Given the description of an element on the screen output the (x, y) to click on. 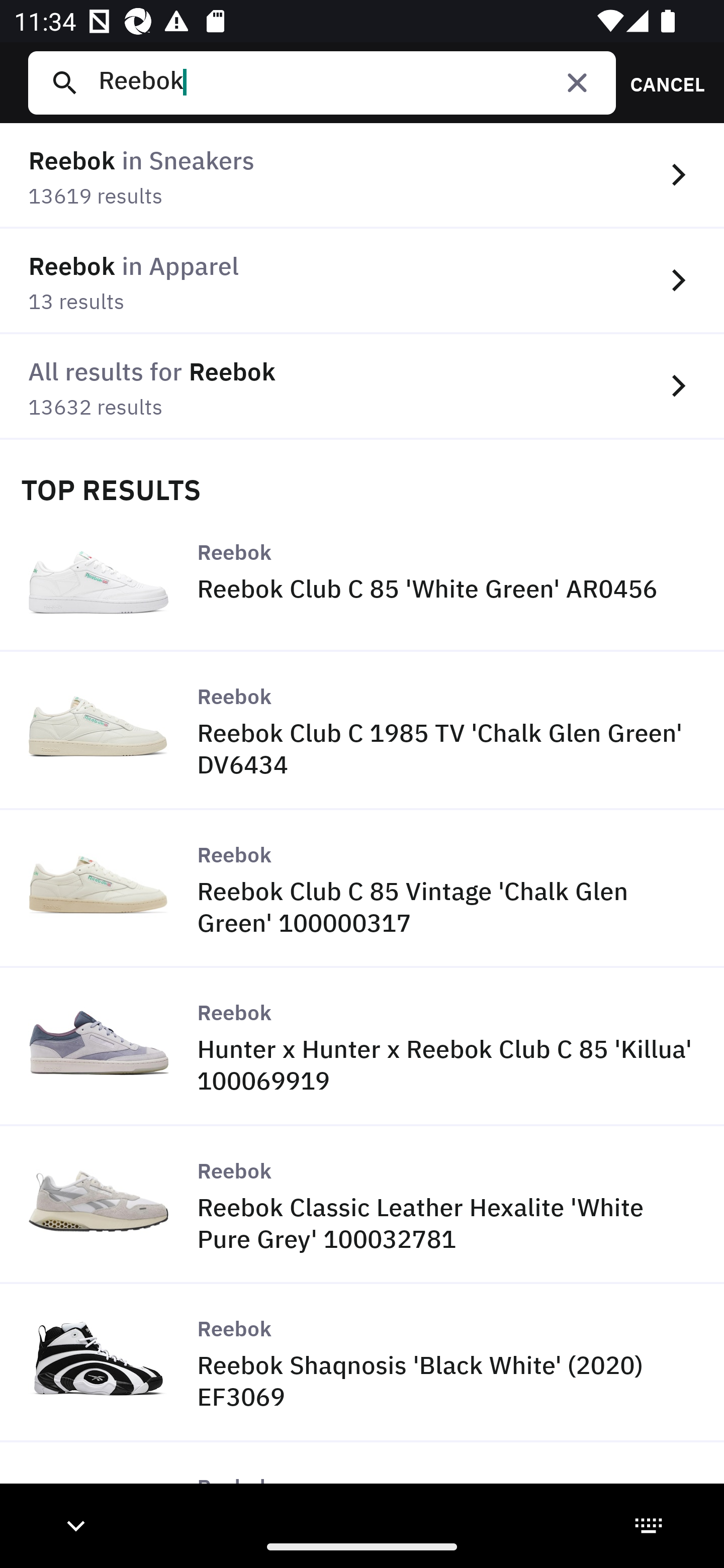
CANCEL (660, 82)
Reebok (349, 82)
 (577, 82)
Reebok  in Sneakers 13619 results  (362, 175)
Reebok  in Apparel 13 results  (362, 280)
All results for  Reebok 13632 results  (362, 386)
Reebok Reebok Club C 85 'White Green' AR0456 (362, 580)
